Given the description of an element on the screen output the (x, y) to click on. 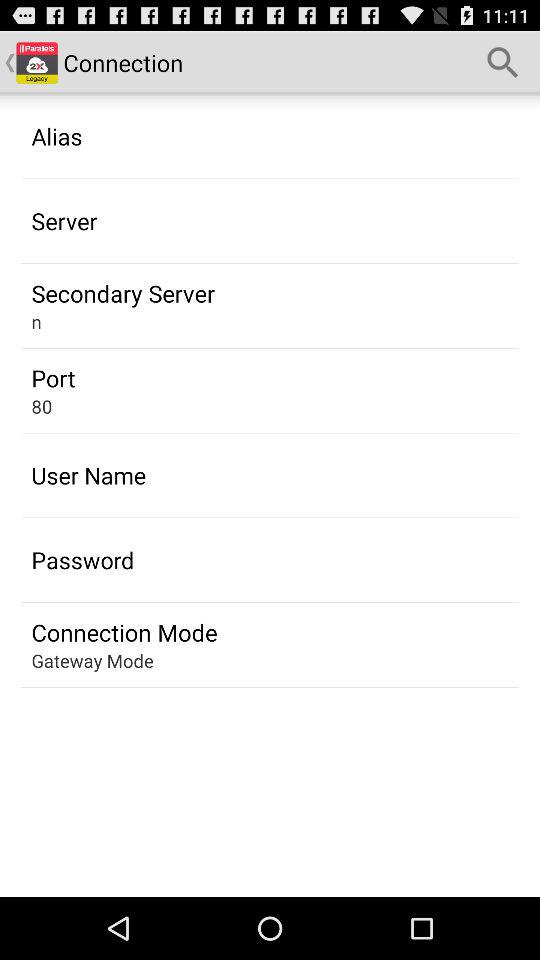
click the app below the n icon (53, 378)
